Given the description of an element on the screen output the (x, y) to click on. 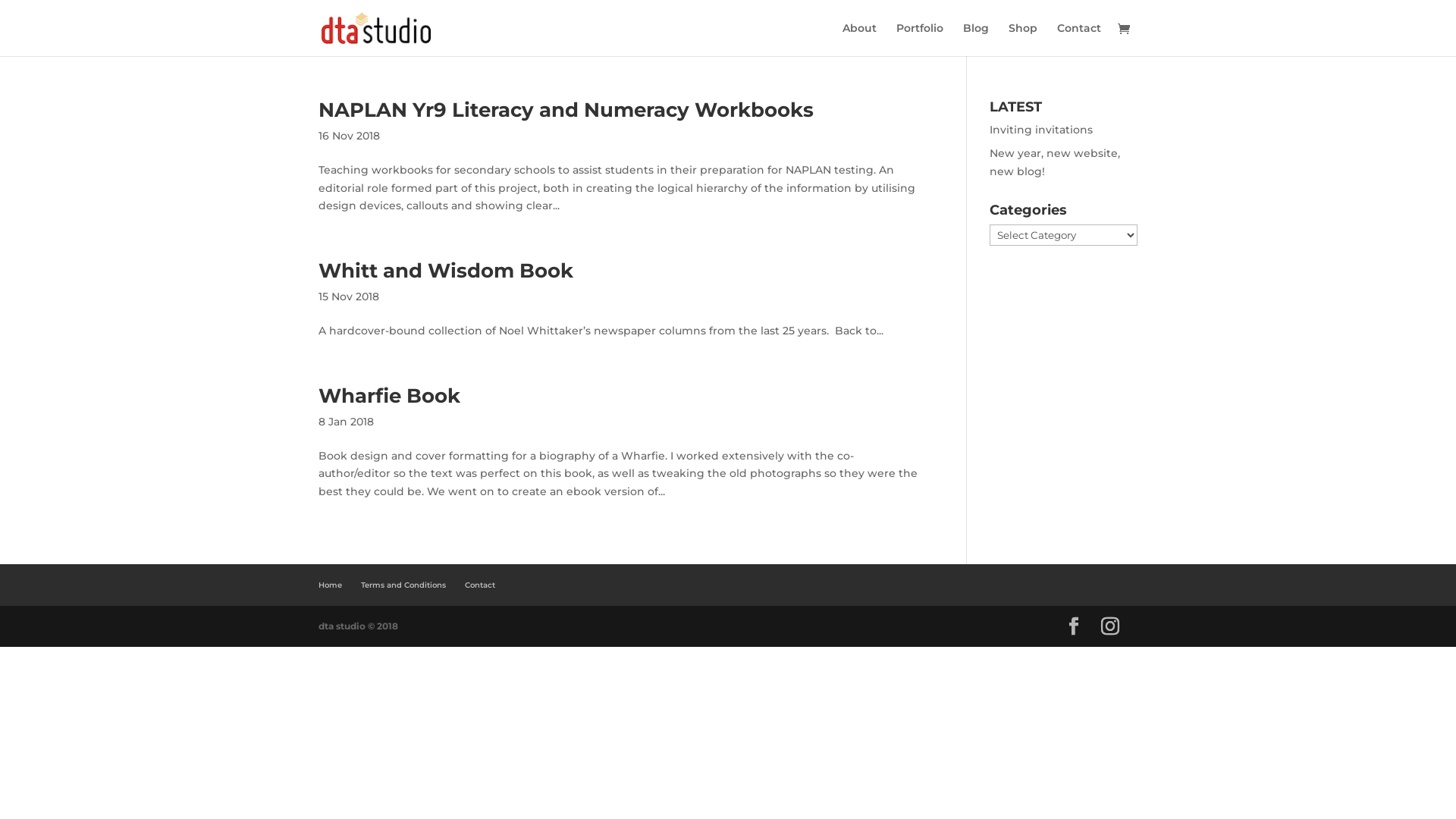
Shop Element type: text (1022, 39)
Blog Element type: text (975, 39)
Inviting invitations Element type: text (1040, 129)
Contact Element type: text (1079, 39)
About Element type: text (859, 39)
Terms and Conditions Element type: text (402, 584)
Whitt and Wisdom Book Element type: text (445, 270)
New year, new website, new blog! Element type: text (1054, 162)
NAPLAN Yr9 Literacy and Numeracy Workbooks Element type: text (565, 109)
Portfolio Element type: text (919, 39)
Contact Element type: text (479, 584)
Home Element type: text (330, 584)
Wharfie Book Element type: text (389, 395)
